Given the description of an element on the screen output the (x, y) to click on. 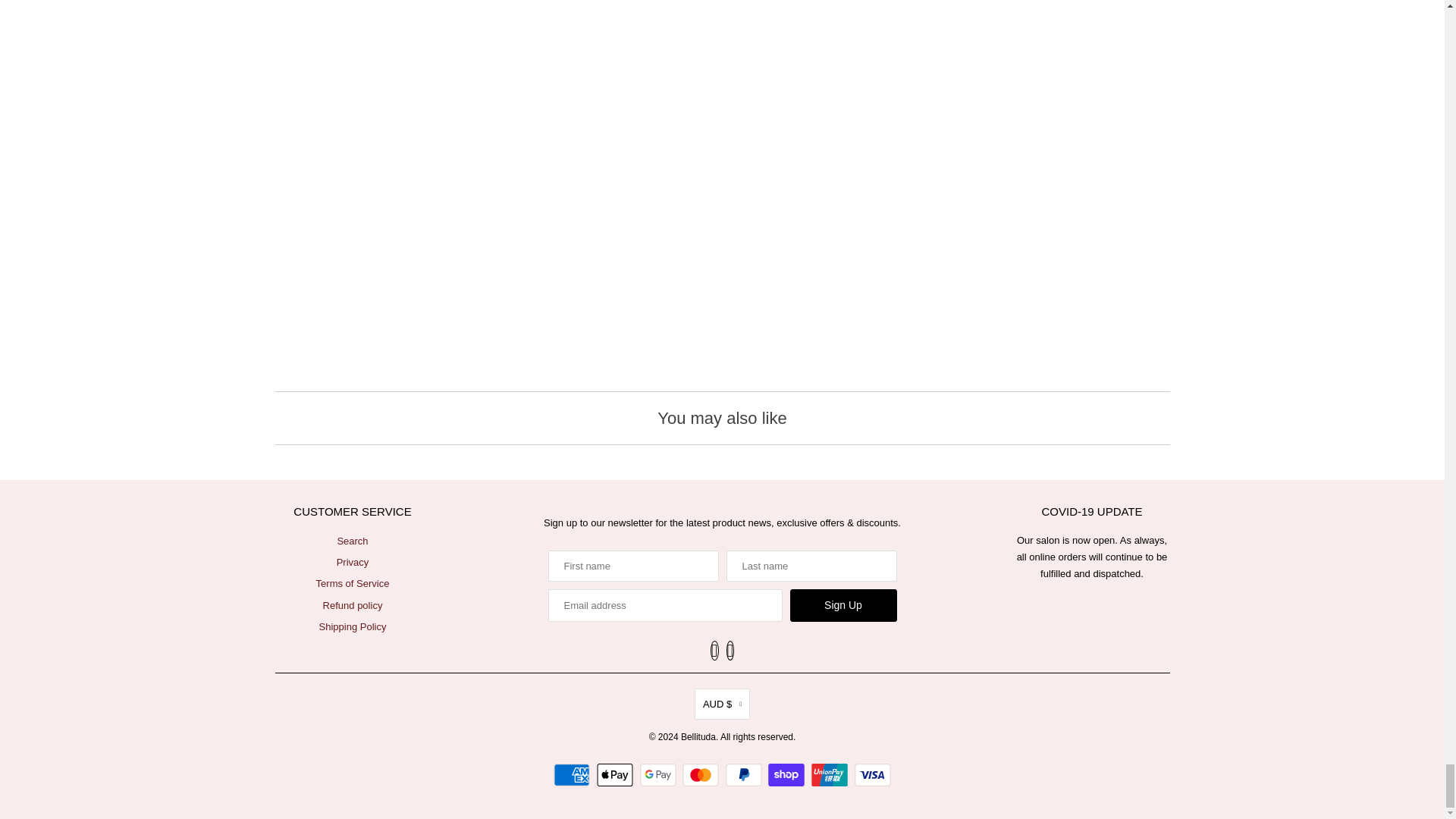
American Express (573, 774)
Google Pay (659, 774)
PayPal (745, 774)
Union Pay (830, 774)
Sign Up (843, 604)
Shop Pay (788, 774)
Visa (872, 774)
Apple Pay (616, 774)
Mastercard (702, 774)
